Given the description of an element on the screen output the (x, y) to click on. 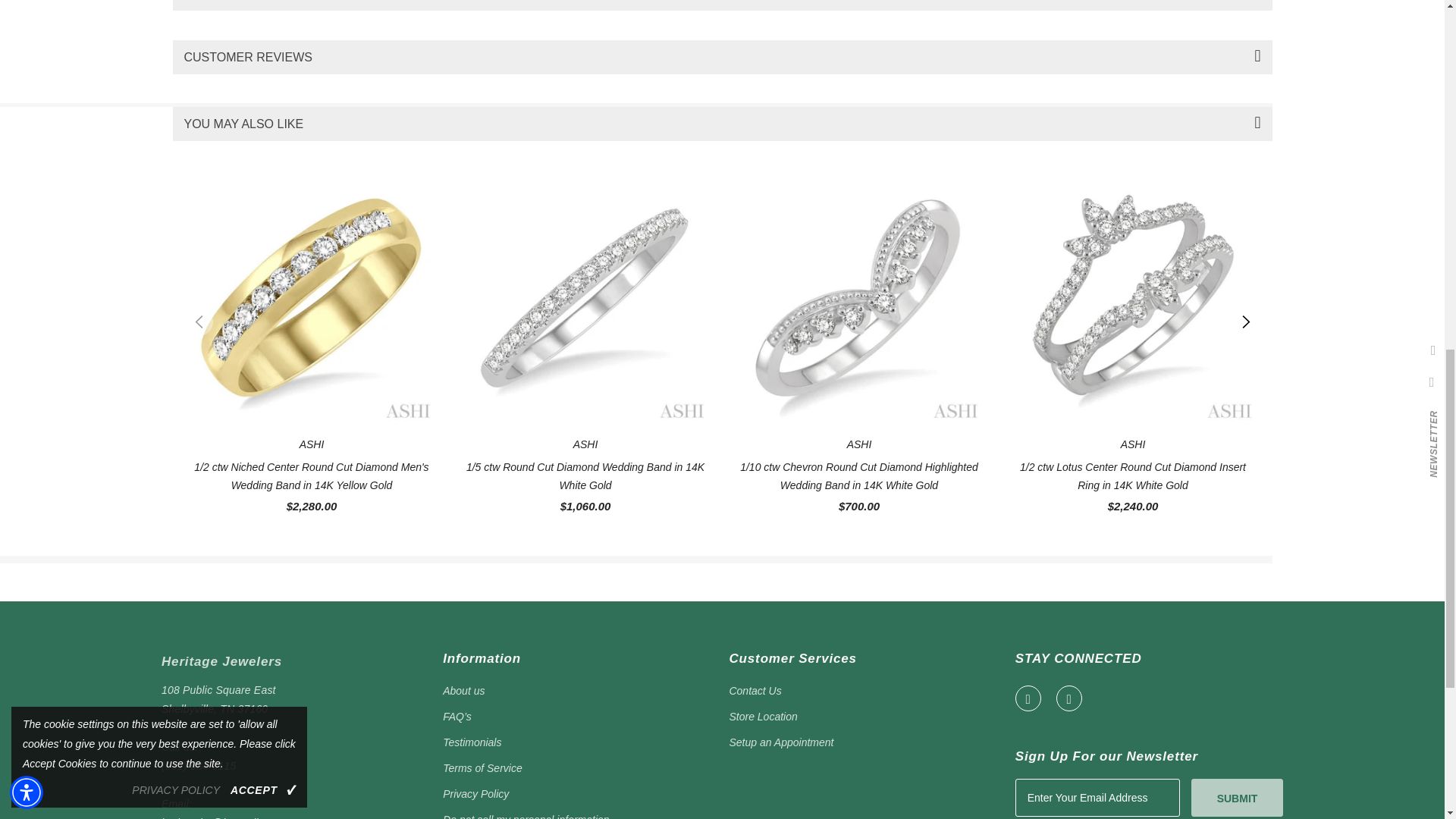
Submit (1236, 796)
